Given the description of an element on the screen output the (x, y) to click on. 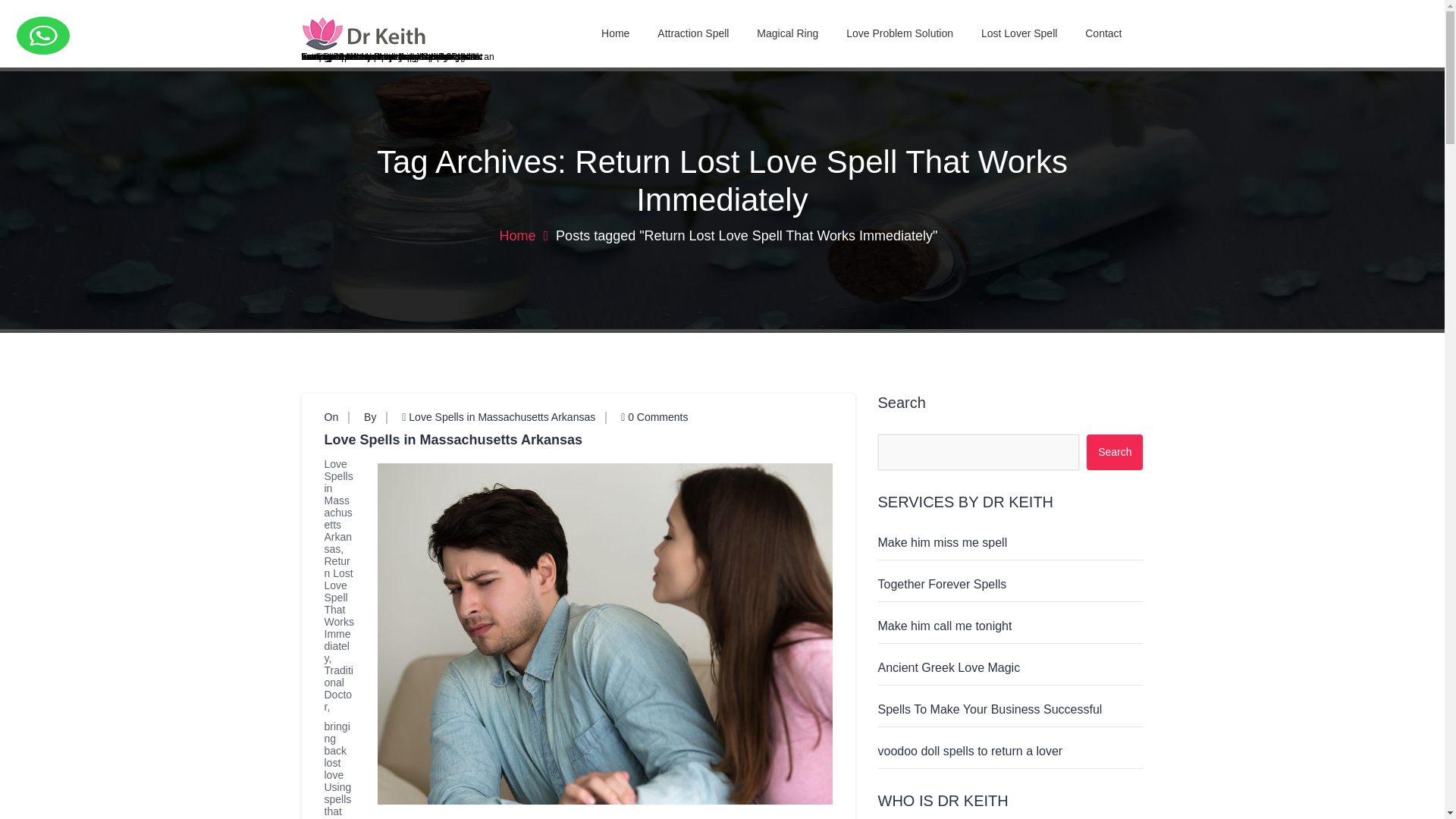
Lost Lover Spell (1019, 33)
0 Comments (654, 417)
Attraction Spell (692, 33)
Attraction Spell (692, 33)
Home (523, 235)
Home (615, 33)
By (369, 417)
Search (1114, 452)
Home (615, 33)
Love Problem Solution (899, 33)
